Given the description of an element on the screen output the (x, y) to click on. 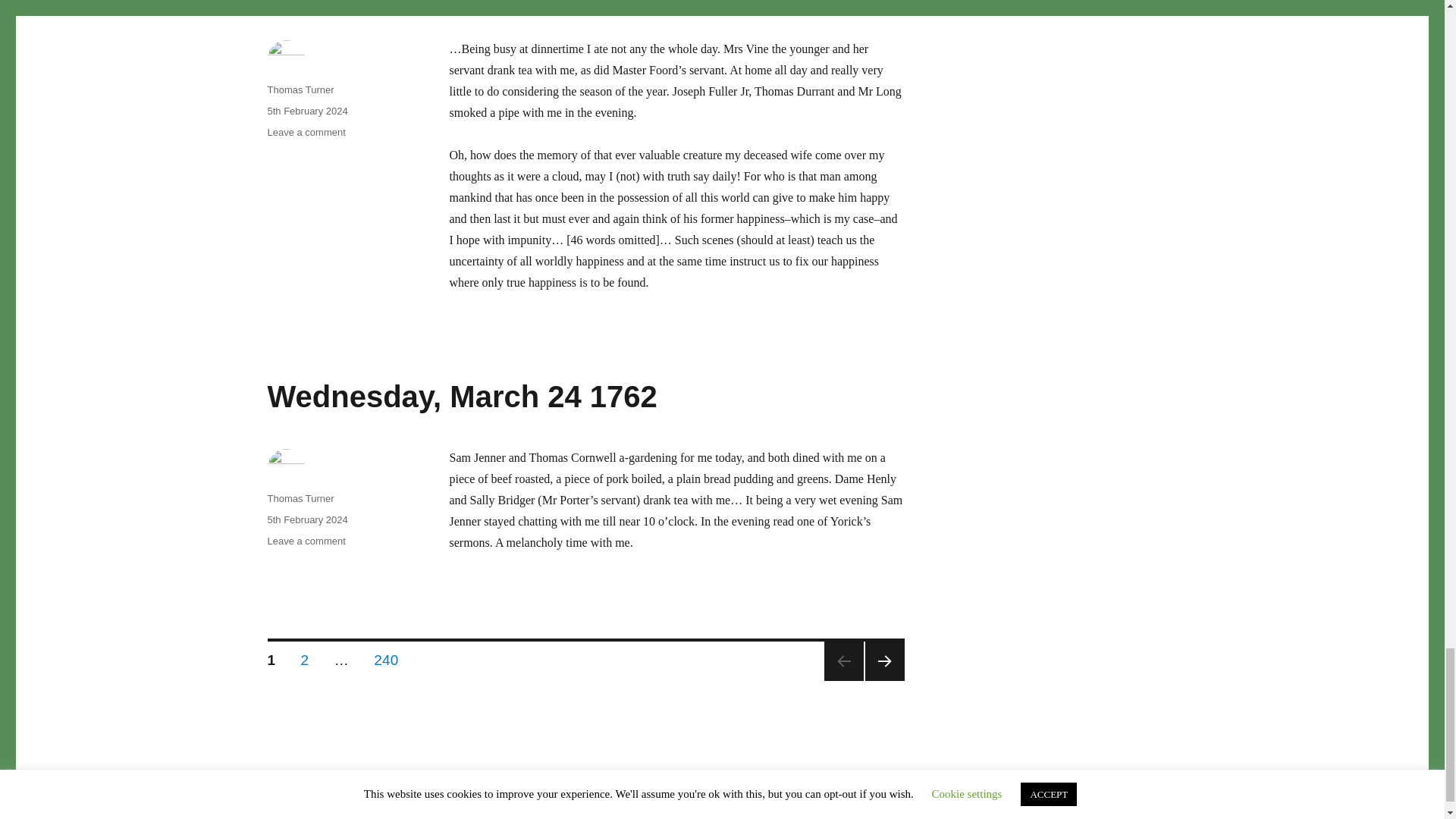
Thomas Turner (299, 89)
5th February 2024 (306, 111)
Thursday, March 25 1762 (446, 2)
